Given the description of an element on the screen output the (x, y) to click on. 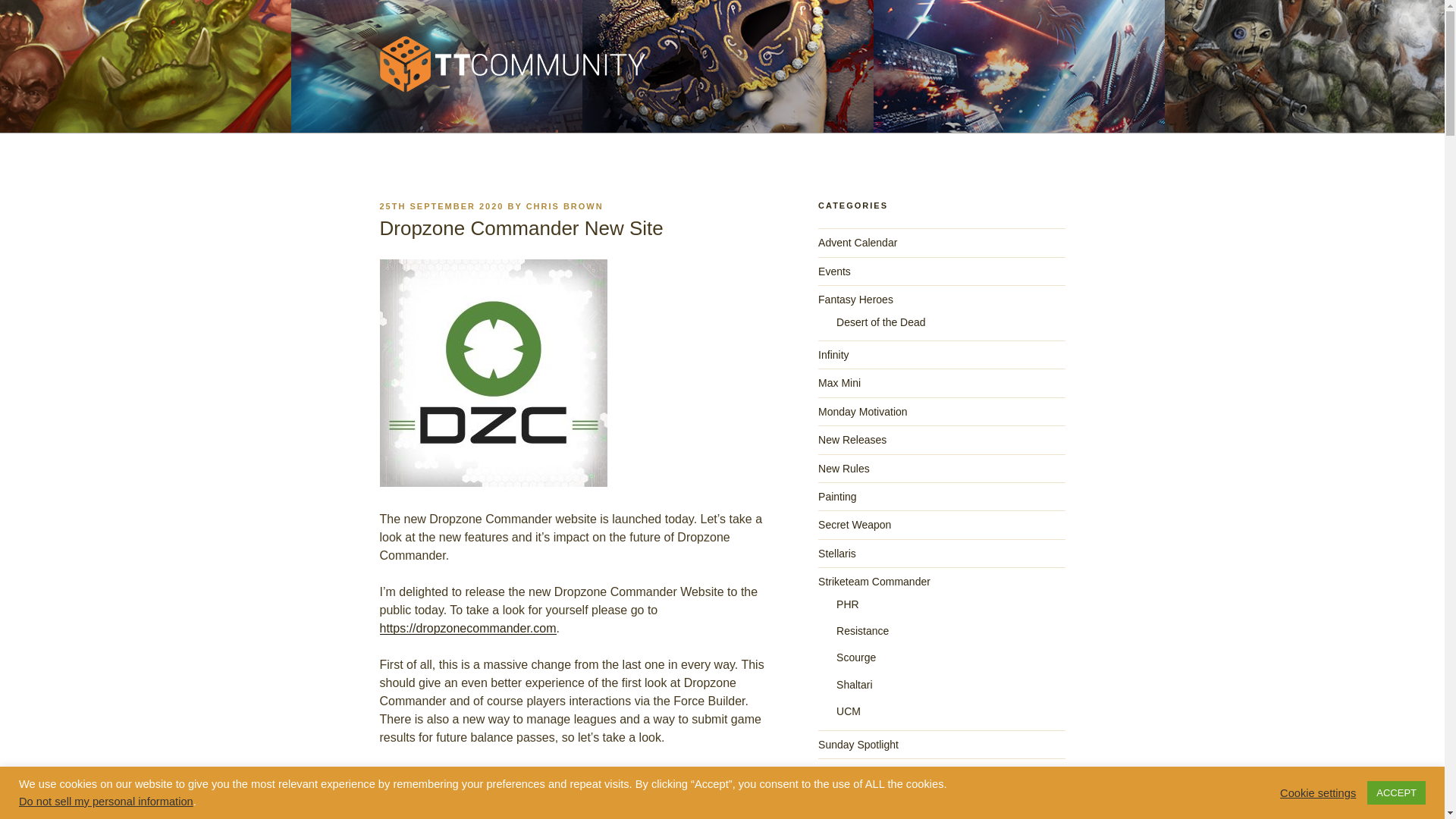
Stellaris (837, 553)
PHR (847, 604)
Scourge (855, 657)
Painting (837, 496)
New Releases (852, 439)
New Rules (843, 468)
Striketeam Commander (874, 581)
Resistance (861, 630)
Fantasy Heroes (855, 299)
25TH SEPTEMBER 2020 (440, 205)
TTCOMMUNITY (491, 113)
Monday Motivation (862, 411)
Events (834, 271)
Max Mini (839, 382)
Infinity (833, 354)
